Given the description of an element on the screen output the (x, y) to click on. 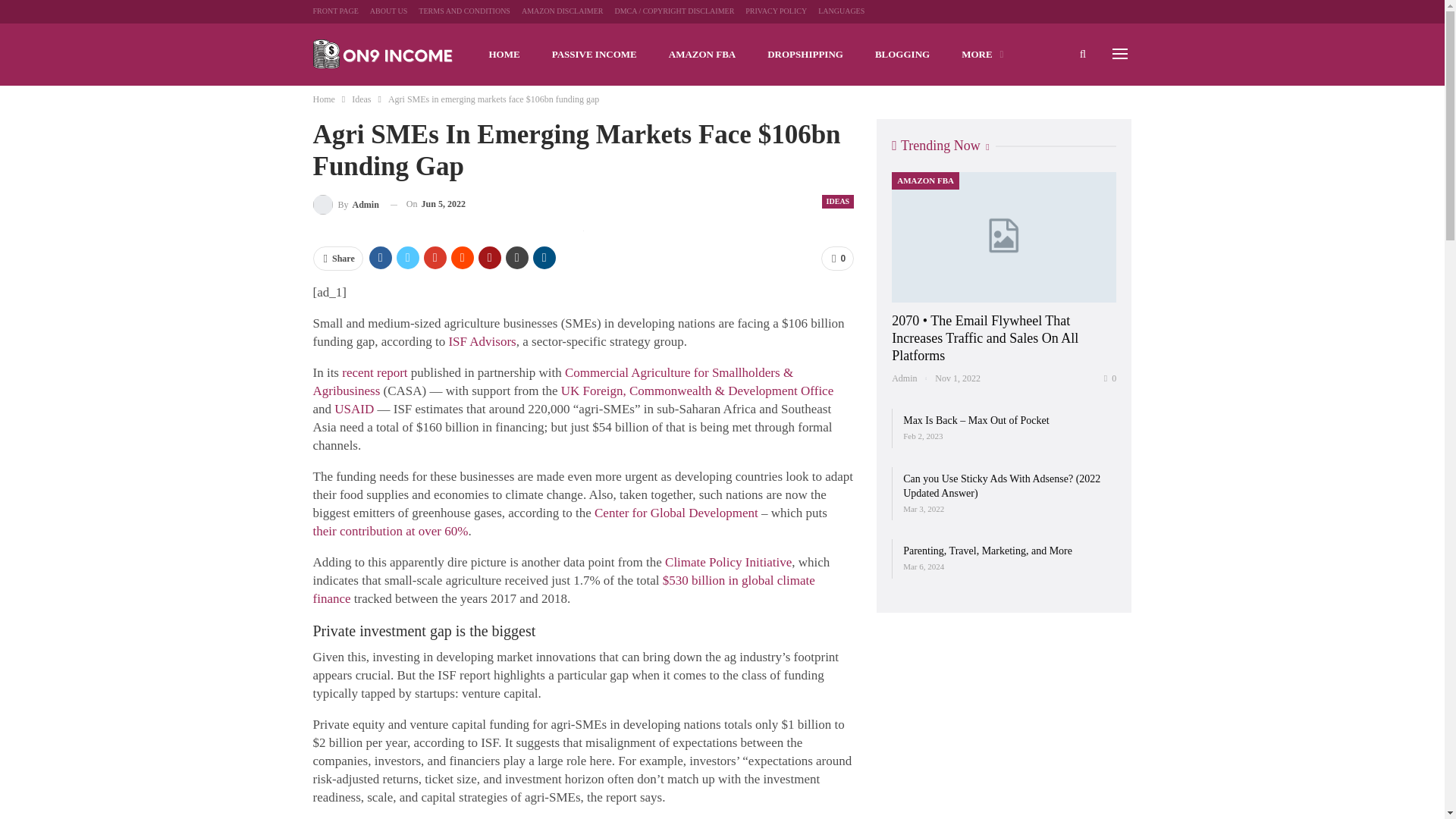
PASSIVE INCOME (594, 54)
BLOGGING (902, 54)
By Admin (345, 204)
FRONT PAGE (335, 10)
HOME (503, 54)
LANGUAGES (841, 10)
Home (323, 98)
DROPSHIPPING (805, 54)
PRIVACY POLICY (775, 10)
0 (837, 258)
